Given the description of an element on the screen output the (x, y) to click on. 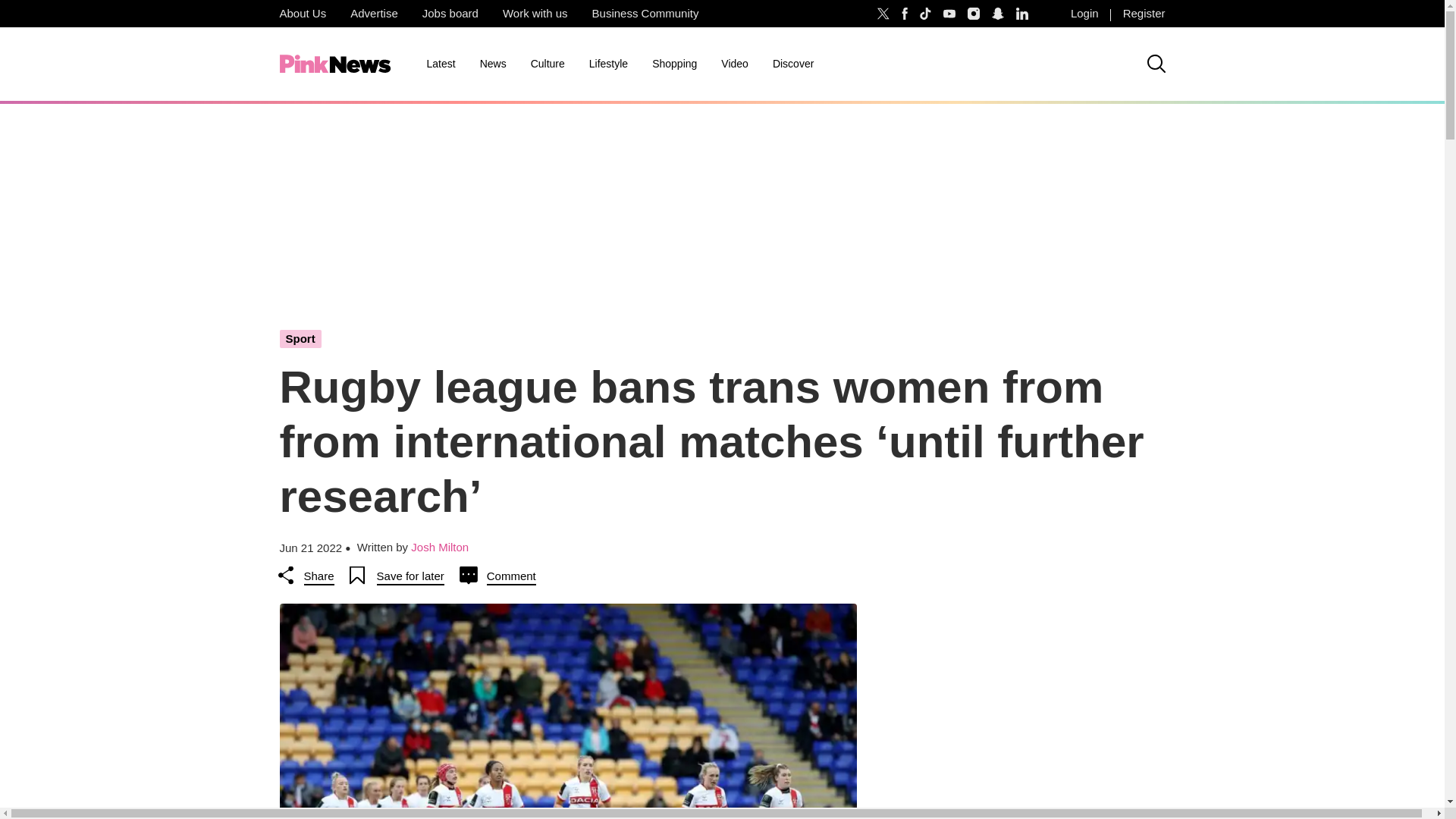
Follow PinkNews on LinkedIn (1021, 13)
Register (1143, 13)
Work with us (534, 13)
News (493, 63)
Culture (547, 63)
Lifestyle (608, 63)
Latest (440, 63)
Login (1084, 13)
Jobs board (450, 13)
Business Community (645, 13)
Advertise (373, 13)
About Us (301, 13)
